Given the description of an element on the screen output the (x, y) to click on. 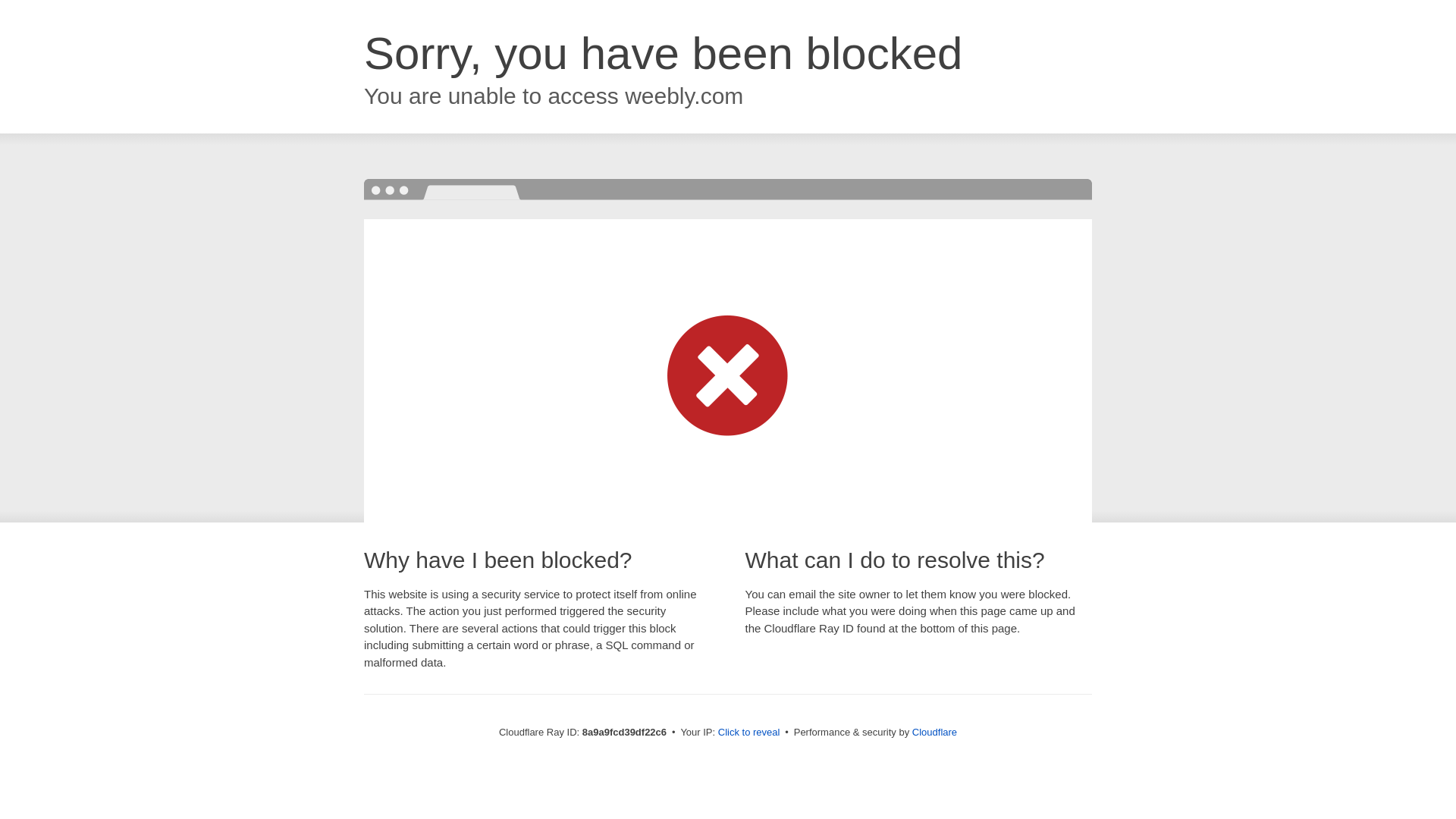
Click to reveal (748, 732)
Cloudflare (934, 731)
